Given the description of an element on the screen output the (x, y) to click on. 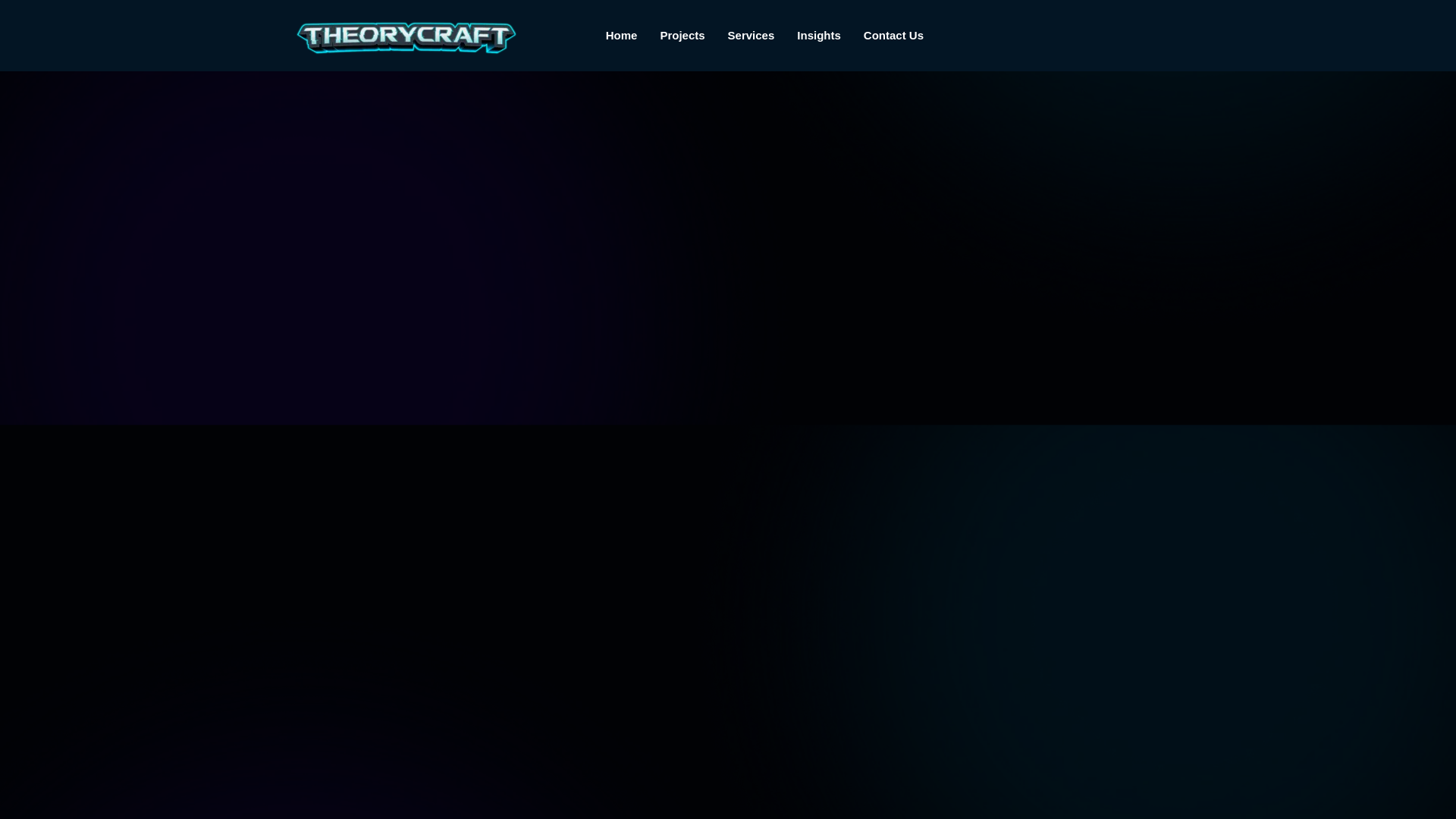
Services (751, 35)
Projects (681, 35)
Contact Us (892, 35)
Insights (818, 35)
Home (621, 35)
